Given the description of an element on the screen output the (x, y) to click on. 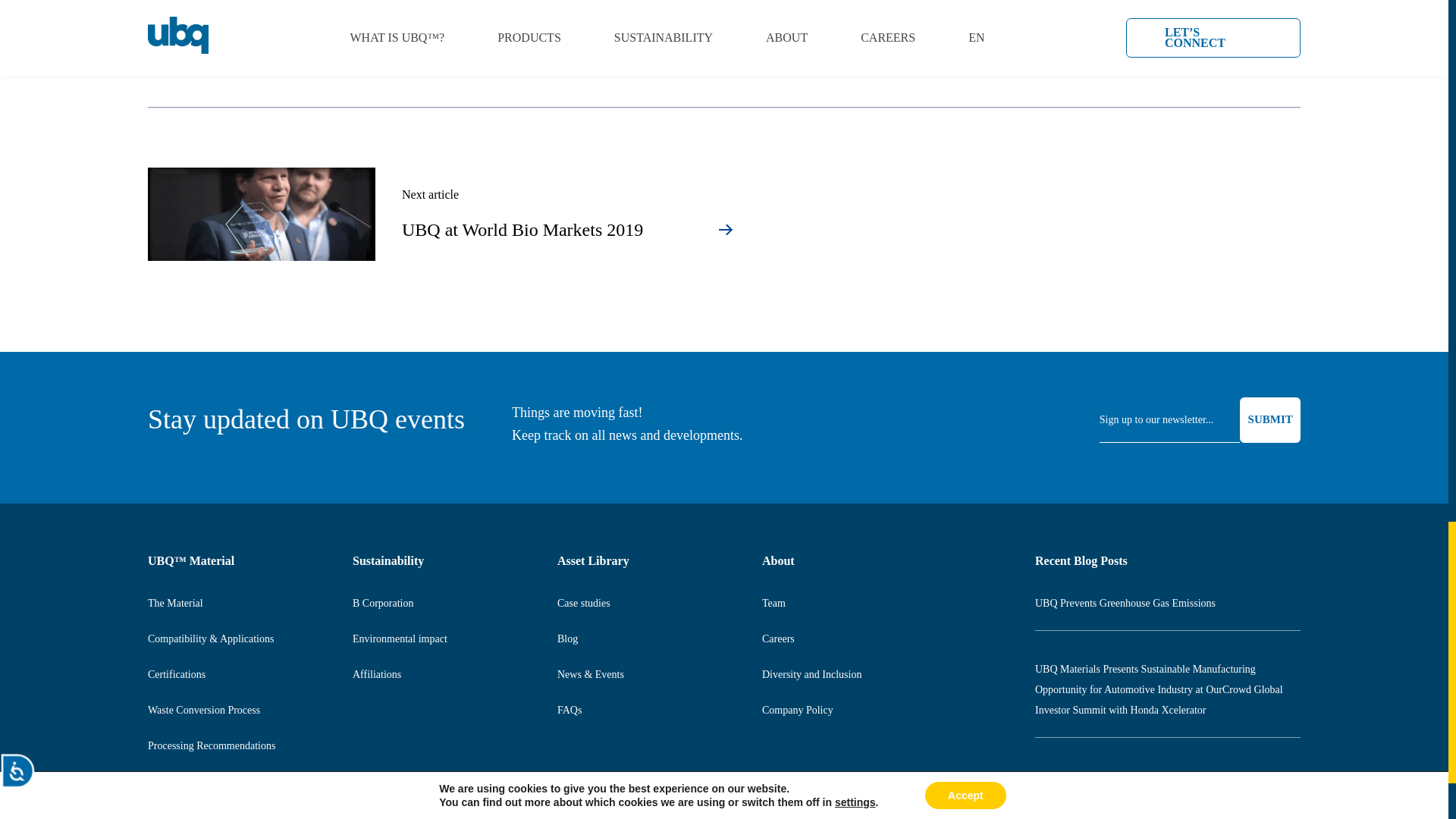
Submit (1270, 420)
